Given the description of an element on the screen output the (x, y) to click on. 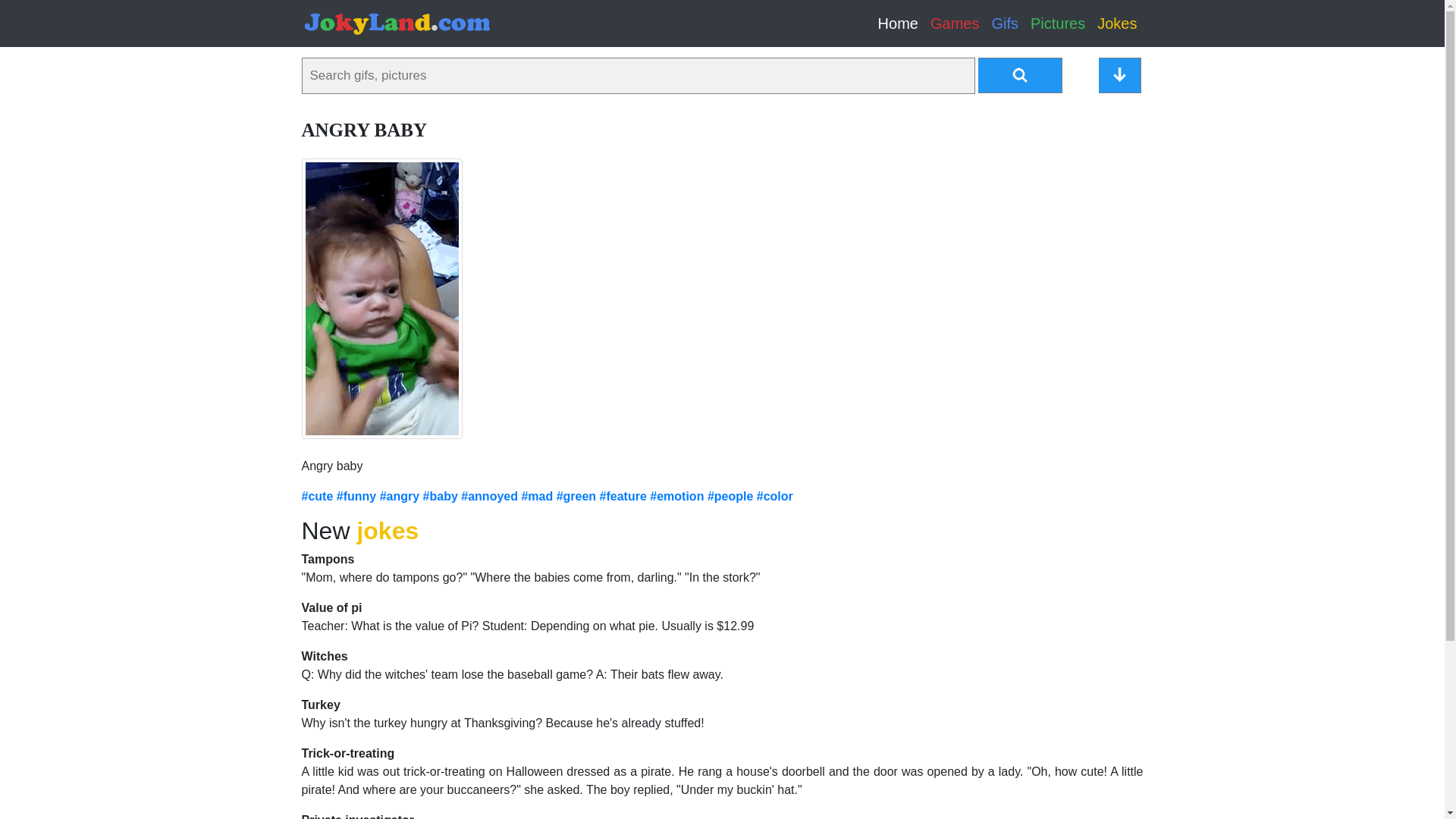
Pictures (1057, 22)
jokes (387, 530)
Games (954, 22)
Gifs (1005, 22)
Jokes (1116, 22)
